Given the description of an element on the screen output the (x, y) to click on. 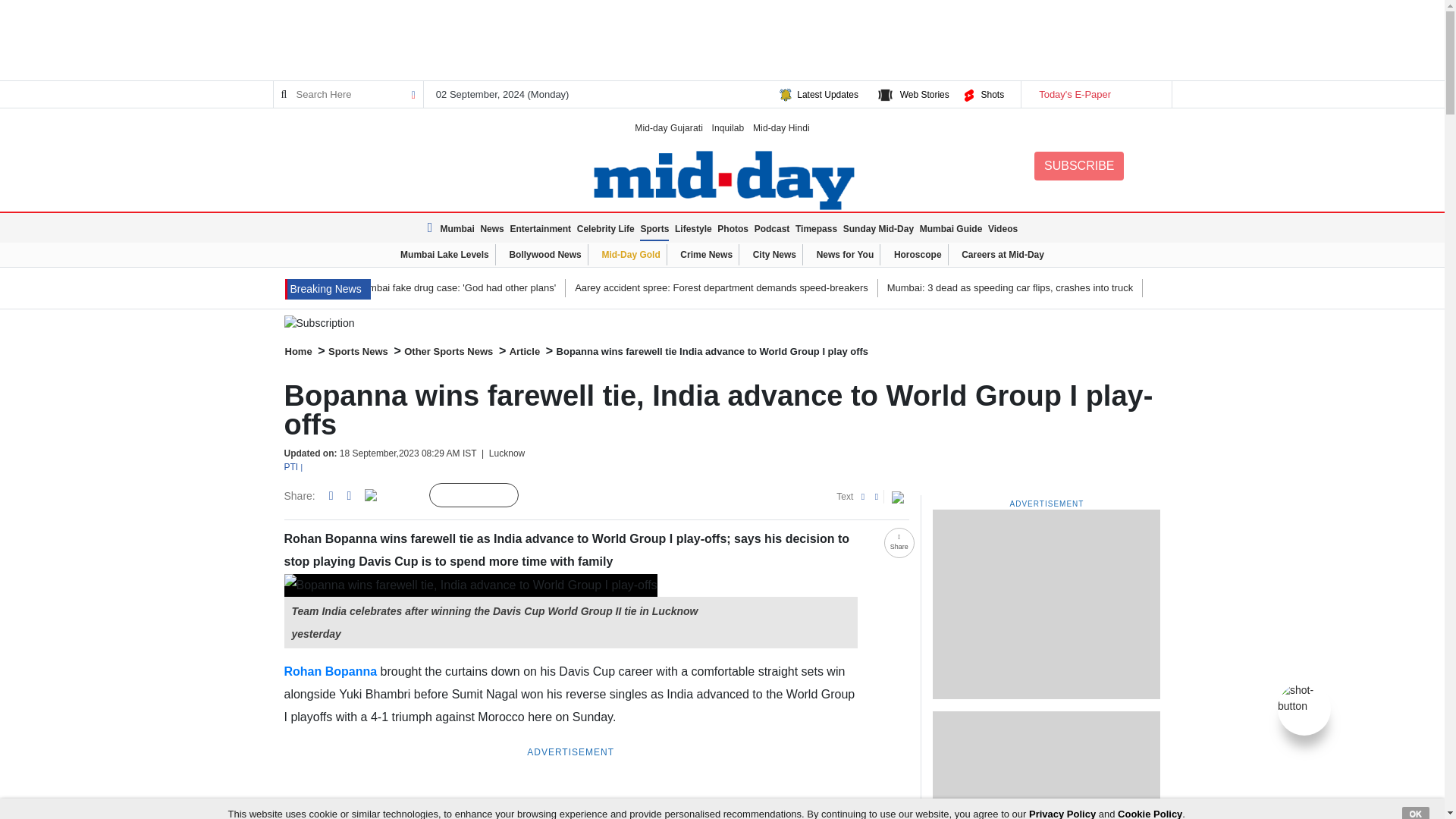
Latest Updates (827, 94)
Shots (991, 94)
Inquilab (728, 127)
Web Stories (924, 94)
Mid-day Hindi (780, 127)
Midday Shot Videos (1304, 697)
Subscription (721, 323)
Latest News (432, 227)
Latest News (328, 289)
Mid-day Gujarati (668, 127)
